Given the description of an element on the screen output the (x, y) to click on. 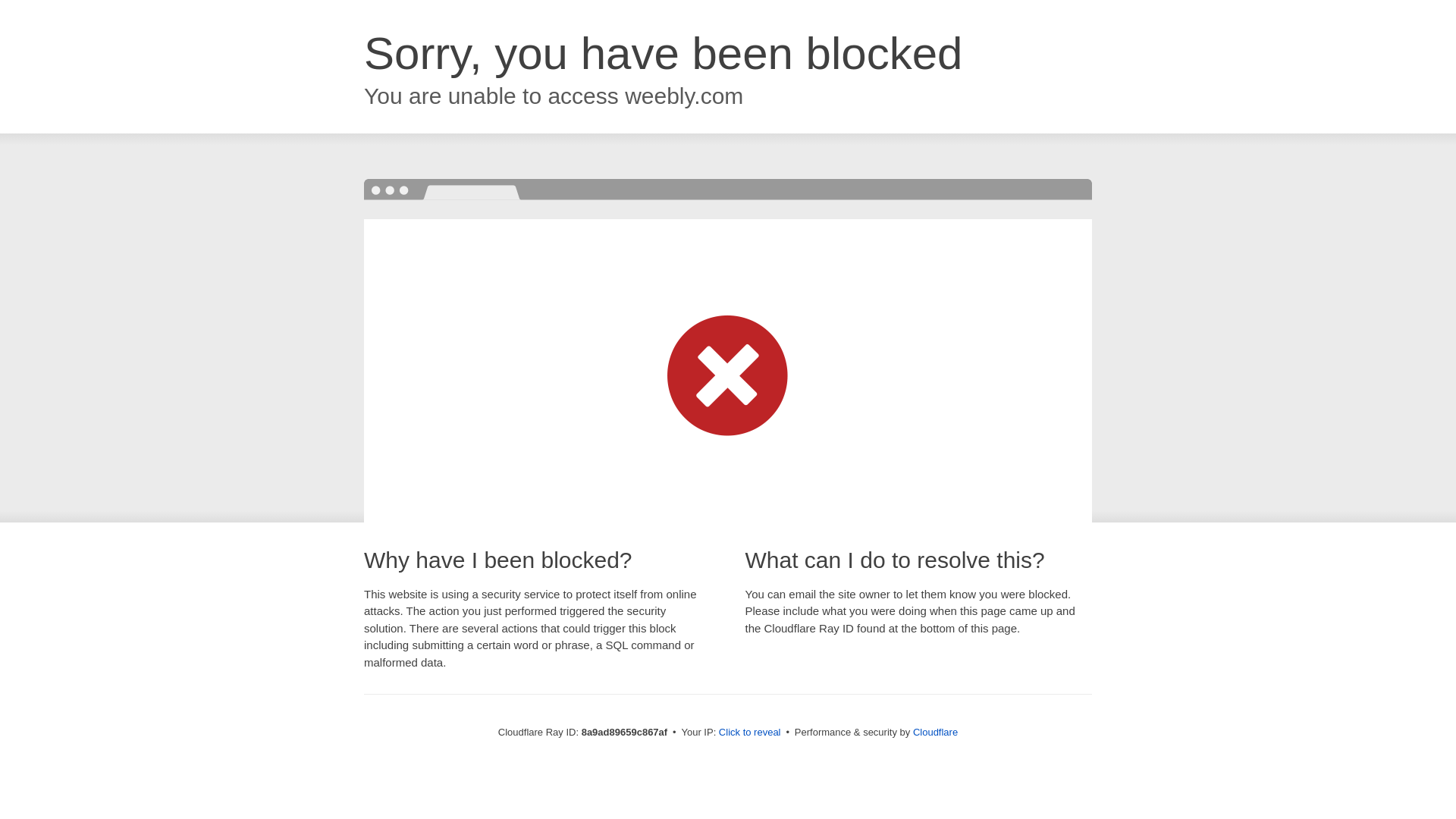
Cloudflare (935, 731)
Click to reveal (749, 732)
